Given the description of an element on the screen output the (x, y) to click on. 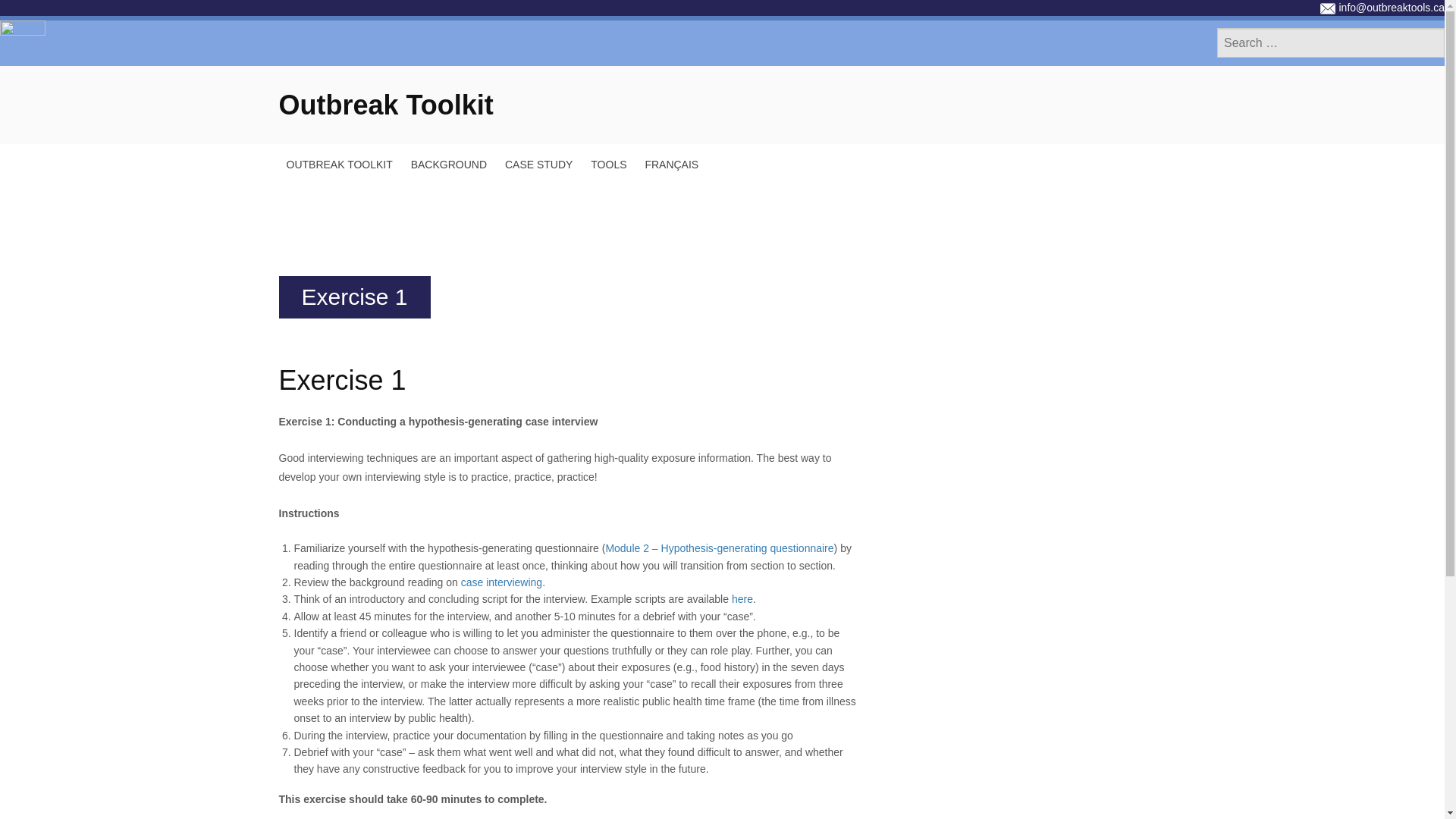
OUTBREAK TOOLKIT (339, 164)
TOOLS (608, 164)
case interviewing (501, 582)
CASE STUDY (538, 164)
Outbreak Toolkit (386, 104)
Outbreak Toolkit (386, 104)
here (742, 598)
Search (22, 8)
BACKGROUND (449, 164)
